Given the description of an element on the screen output the (x, y) to click on. 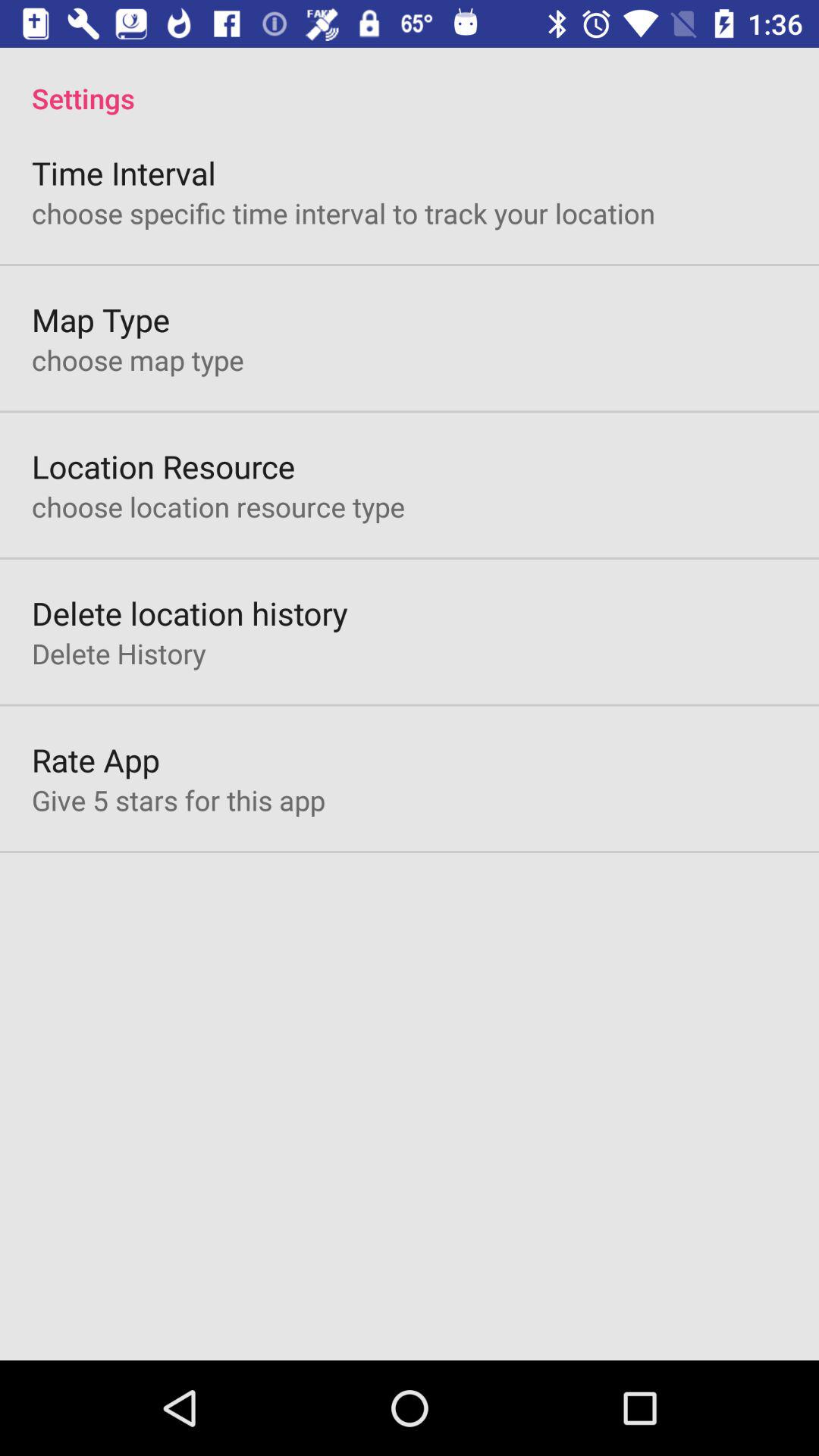
jump until the rate app app (95, 759)
